Given the description of an element on the screen output the (x, y) to click on. 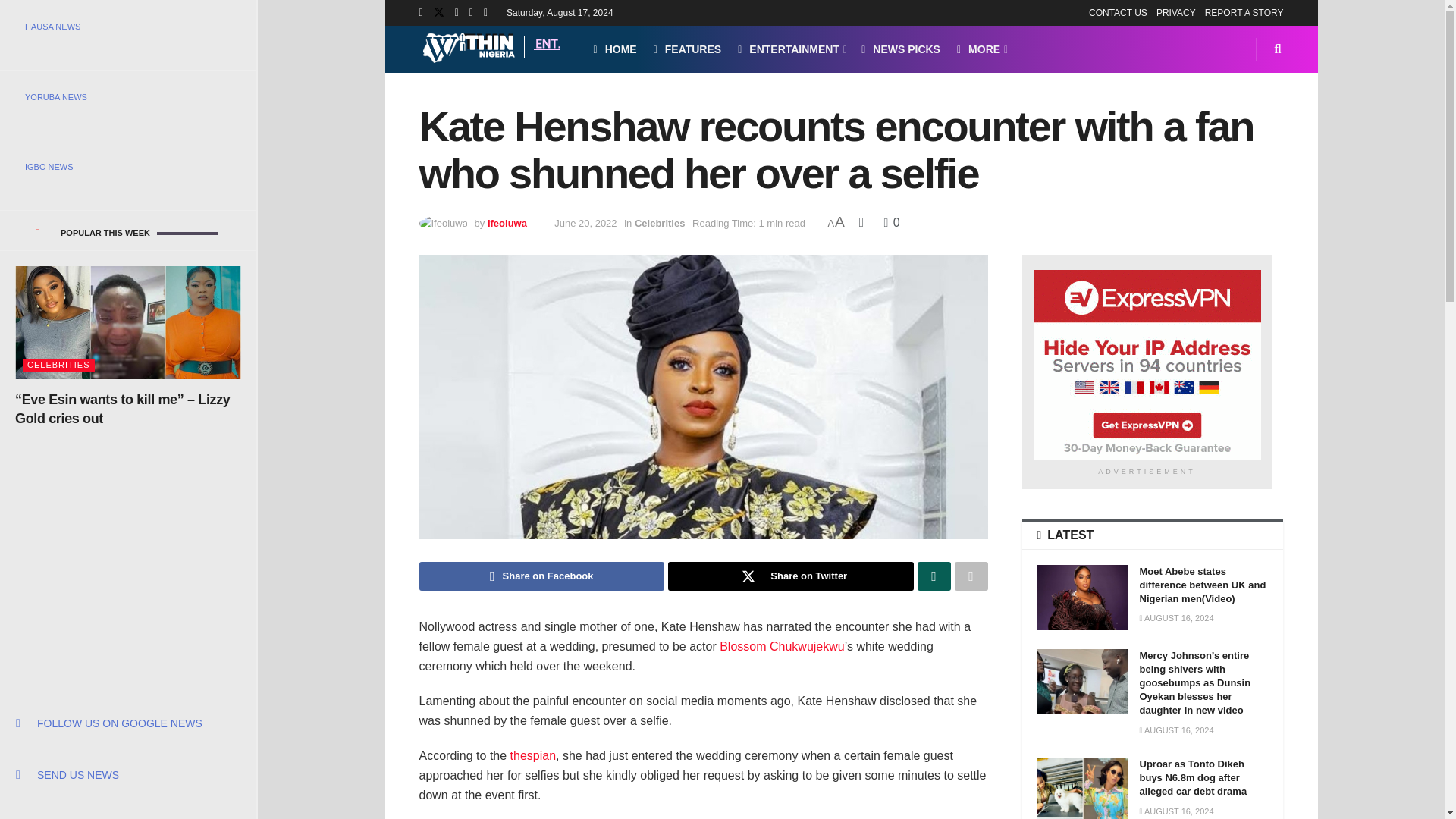
WITHIN NIGERIA ON GOOGLE NEWS (128, 723)
CELEBRITIES (58, 364)
YORUBA NEWS (127, 96)
SEND US NEWS (128, 774)
REPORT A STORY (1244, 12)
HAUSA NEWS (127, 26)
FEATURES (687, 48)
HAUSA NEWS (127, 26)
CONTACT US (1118, 12)
ENTERTAINMENT (791, 48)
